Given the description of an element on the screen output the (x, y) to click on. 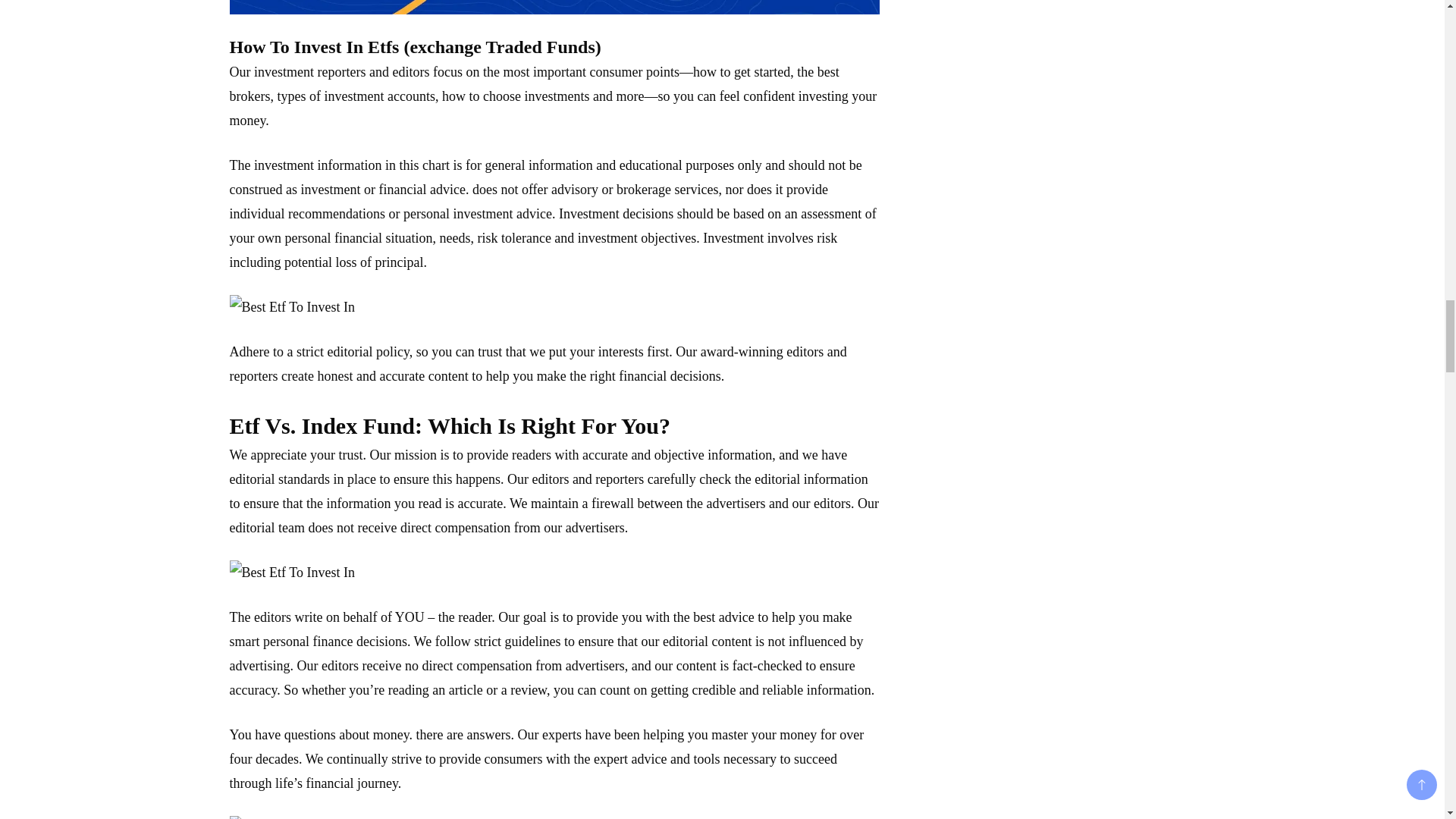
Best Etf To Invest In (290, 572)
Best Etf To Invest In (290, 306)
Best Etf To Invest In (290, 817)
Best Etf To Invest In (553, 7)
